Given the description of an element on the screen output the (x, y) to click on. 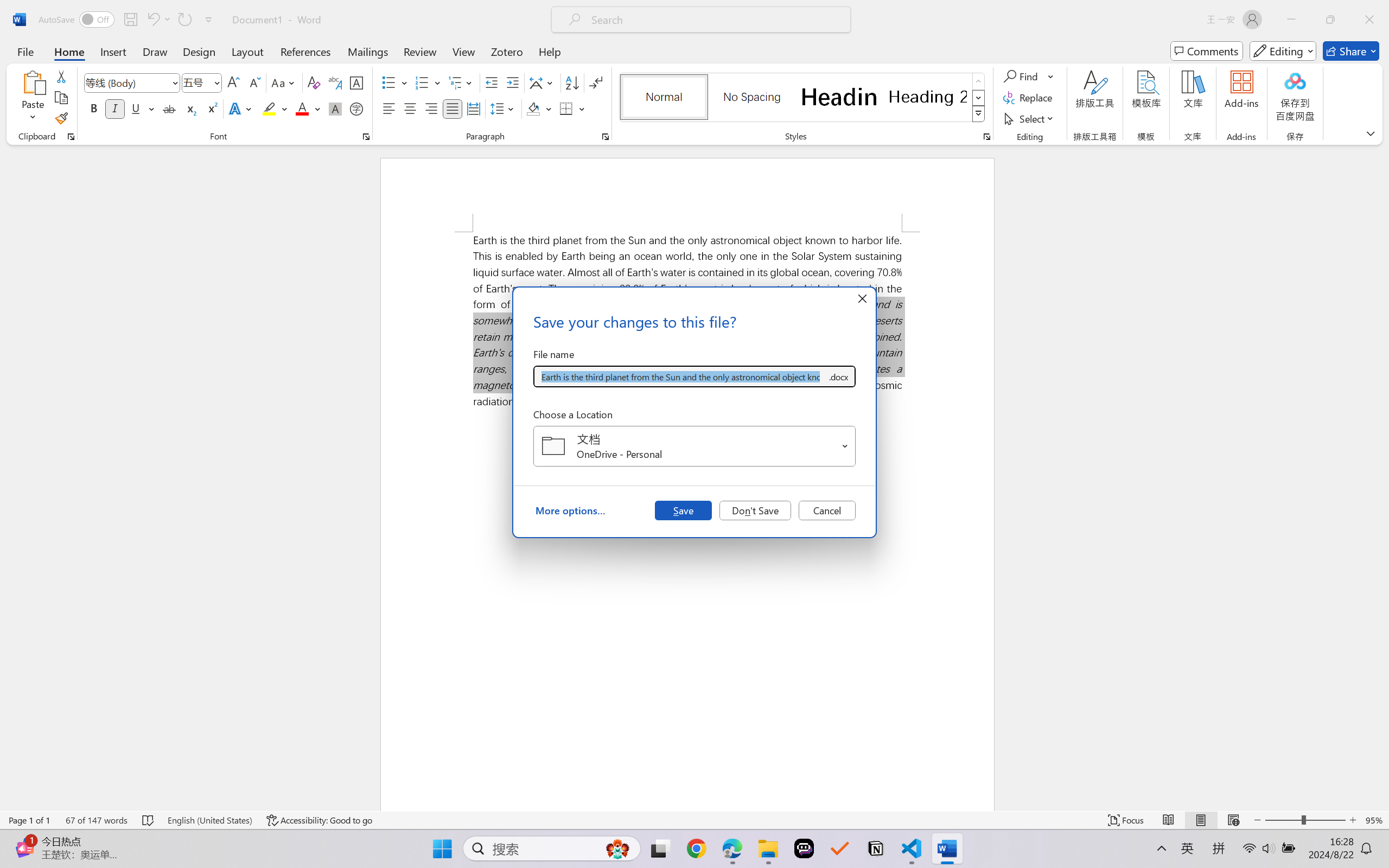
Decrease Indent (491, 82)
Phonetic Guide... (334, 82)
Repeat Italic (184, 19)
Justify (452, 108)
Bold (94, 108)
